Given the description of an element on the screen output the (x, y) to click on. 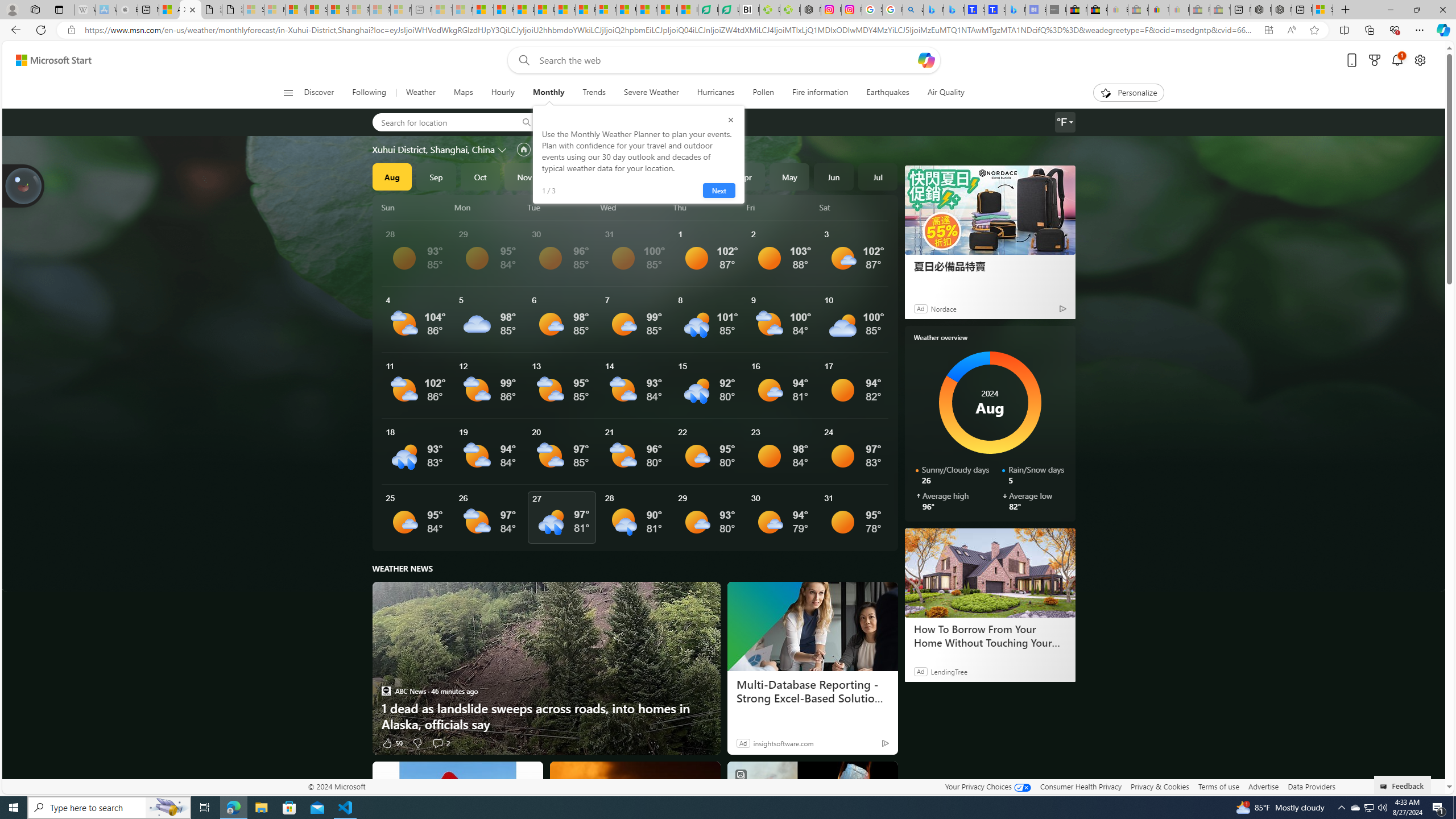
Microsoft Services Agreement - Sleeping (274, 9)
Aberdeen (576, 121)
Wed (634, 207)
Threats and offensive language policy | eBay (1158, 9)
Dec (568, 176)
Thu (707, 207)
Sep (435, 176)
